Given the description of an element on the screen output the (x, y) to click on. 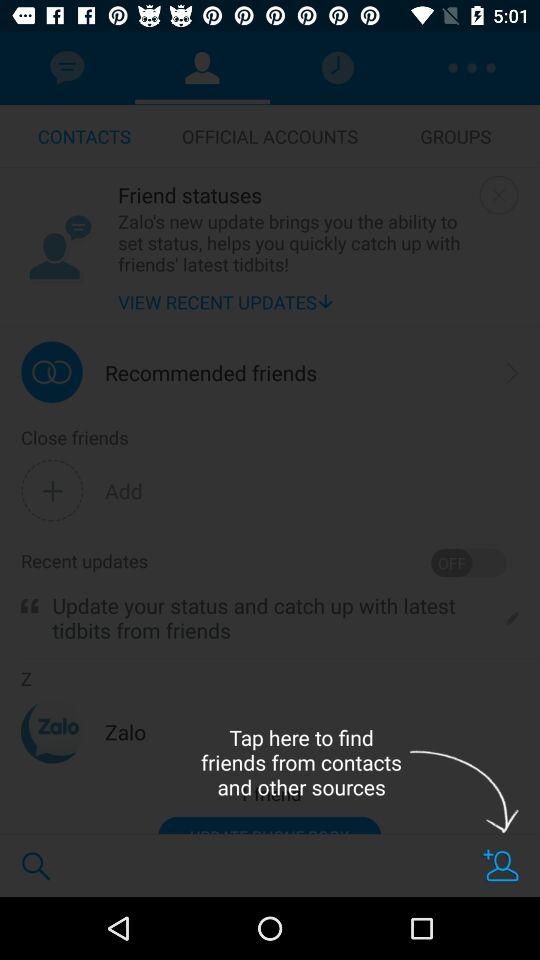
launch the z item (26, 679)
